Given the description of an element on the screen output the (x, y) to click on. 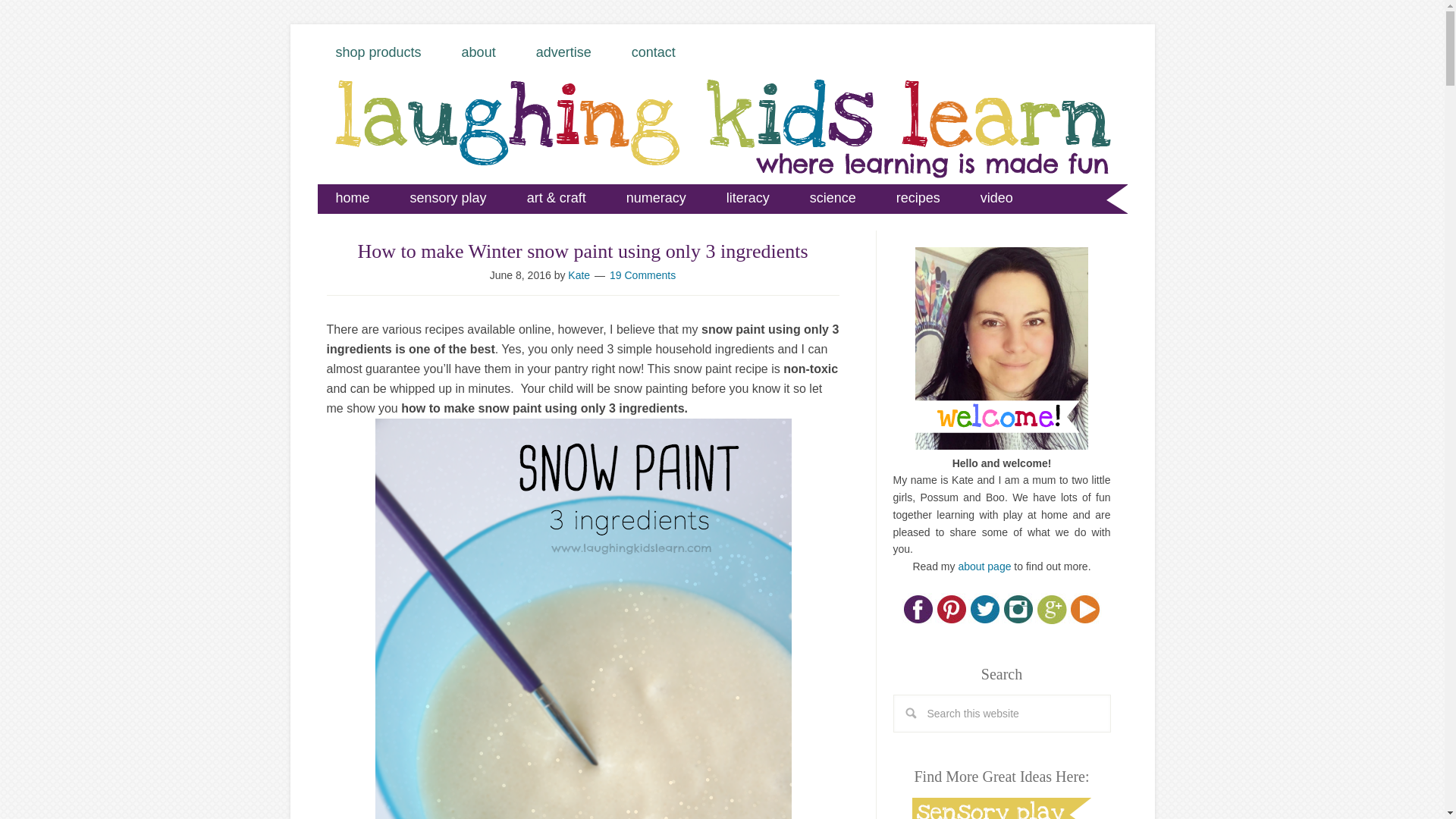
Kate (578, 275)
science (833, 197)
sensory play (448, 197)
contact (653, 52)
shop products (378, 52)
advertise (564, 52)
home (352, 197)
recipes (917, 197)
Laughing Kids Learn (721, 144)
about (478, 52)
video (996, 197)
19 Comments (642, 275)
numeracy (656, 197)
literacy (747, 197)
